Given the description of an element on the screen output the (x, y) to click on. 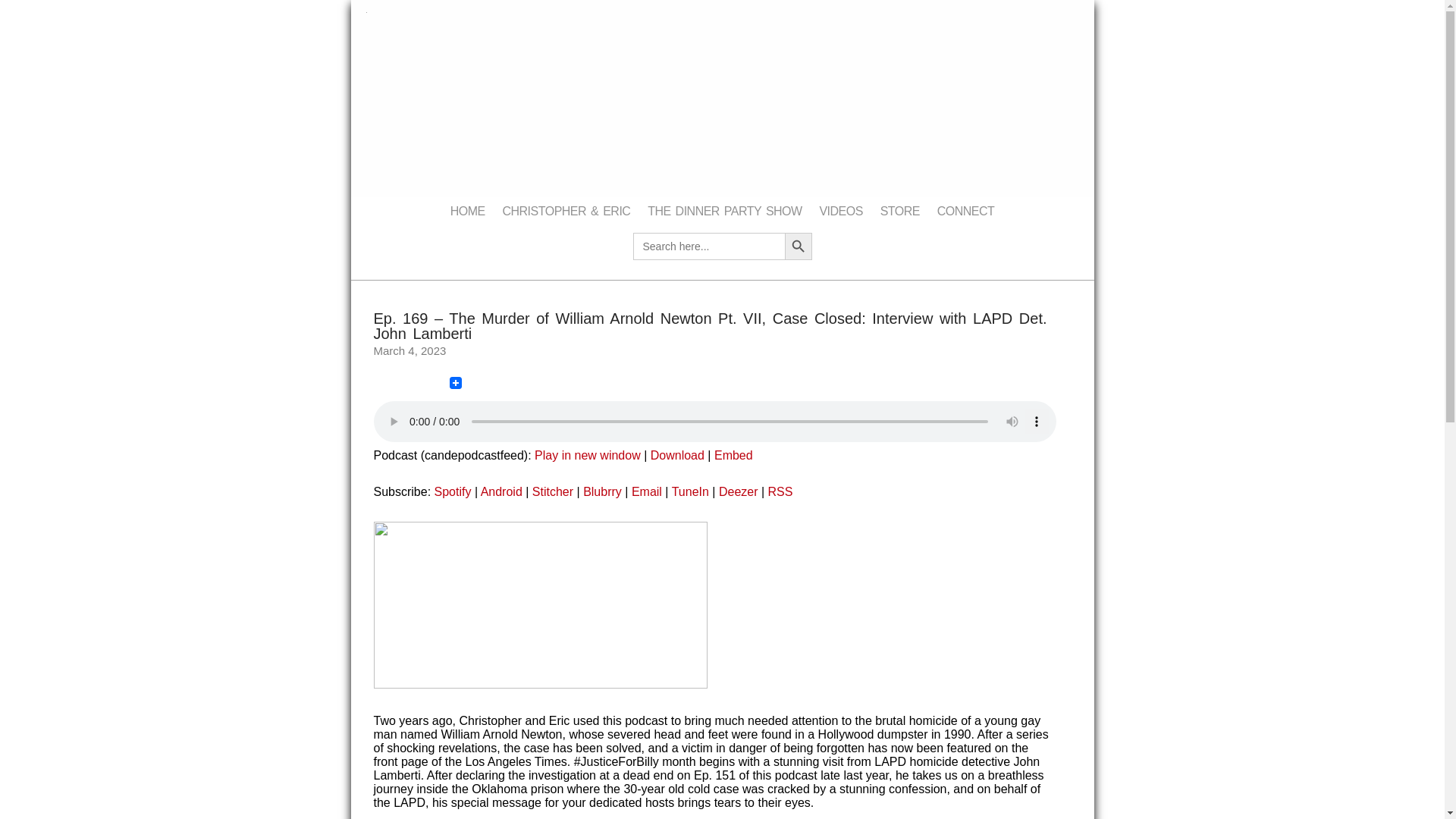
Embed (733, 454)
THE DINNER PARTY SHOW (724, 212)
Download (677, 454)
HOME (466, 212)
Play in new window (587, 454)
Subscribe on Blubrry (602, 491)
Subscribe on Spotify (452, 491)
STORE (900, 212)
SEARCH BUTTON (797, 246)
CONNECT (965, 212)
